Given the description of an element on the screen output the (x, y) to click on. 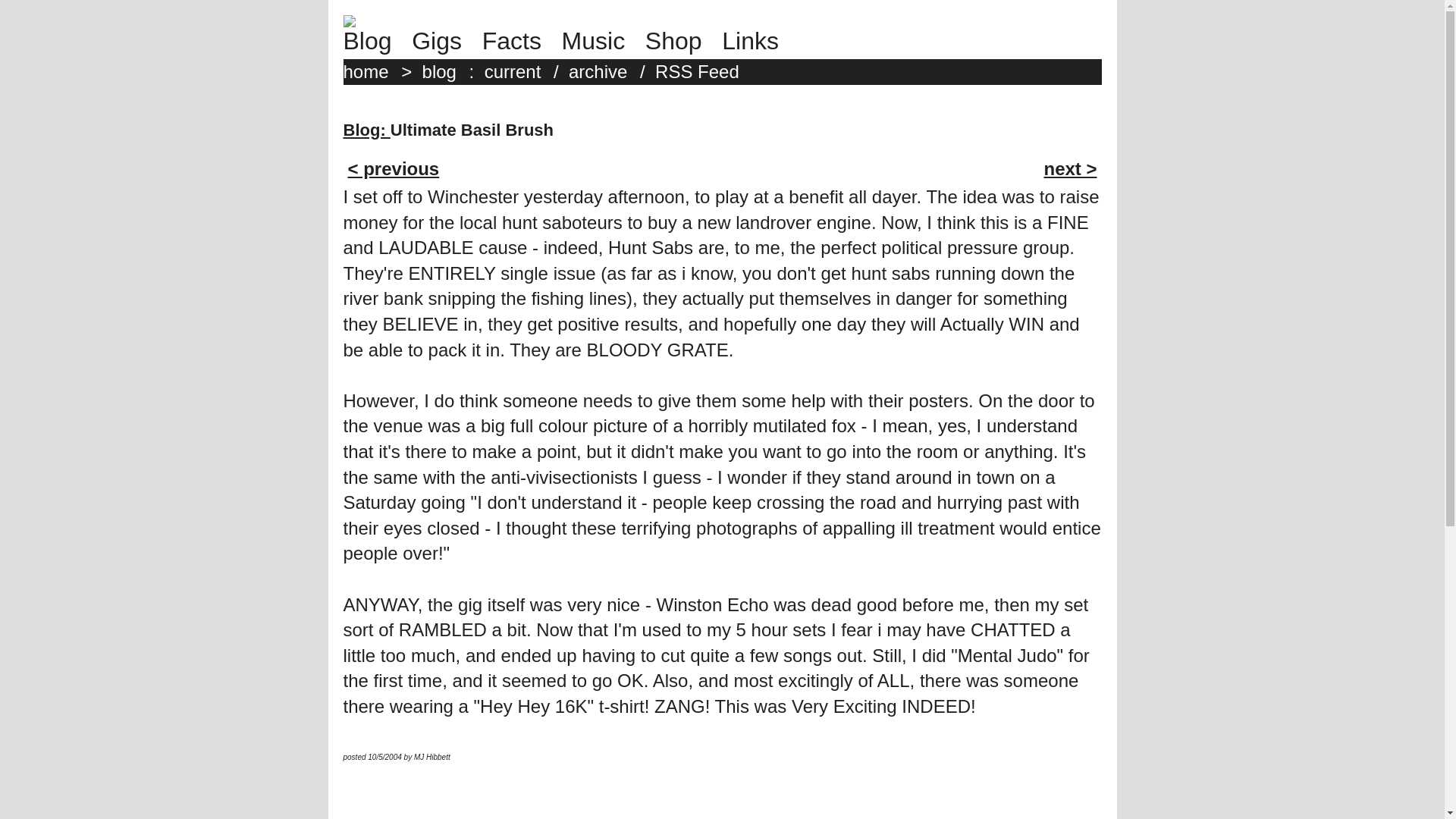
Blog (374, 40)
archive (601, 71)
current (516, 71)
home (369, 71)
RSS Feed (700, 71)
Music (601, 40)
Links (757, 40)
Gigs (444, 40)
Shop (681, 40)
blog (443, 71)
Facts (518, 40)
Blog: (366, 129)
